Given the description of an element on the screen output the (x, y) to click on. 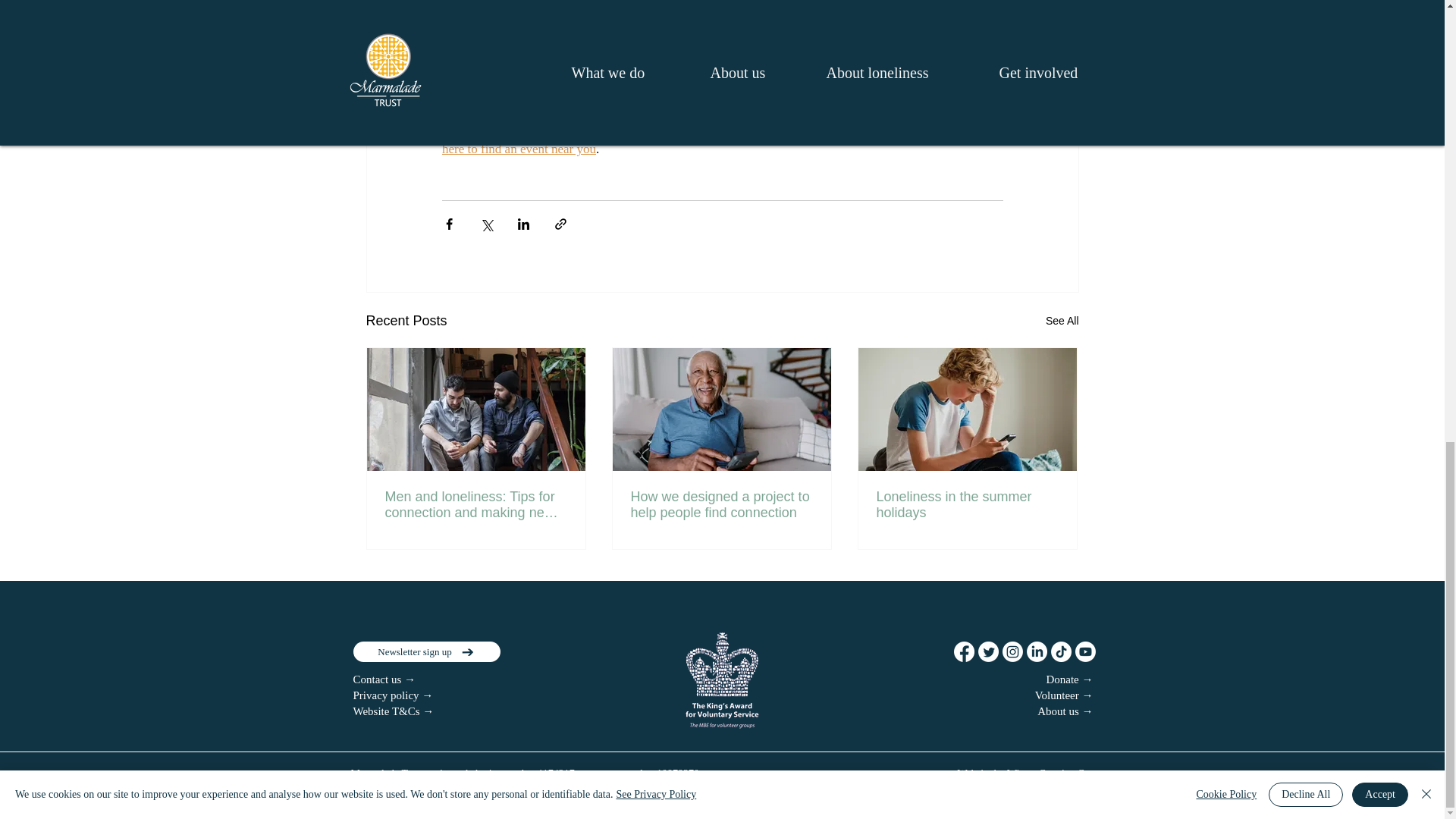
Click here to find an event near you (723, 136)
How we designed a project to help people find connection (721, 504)
Loneliness in the summer holidays (967, 504)
See All (1061, 321)
Newsletter sign up (426, 651)
